Given the description of an element on the screen output the (x, y) to click on. 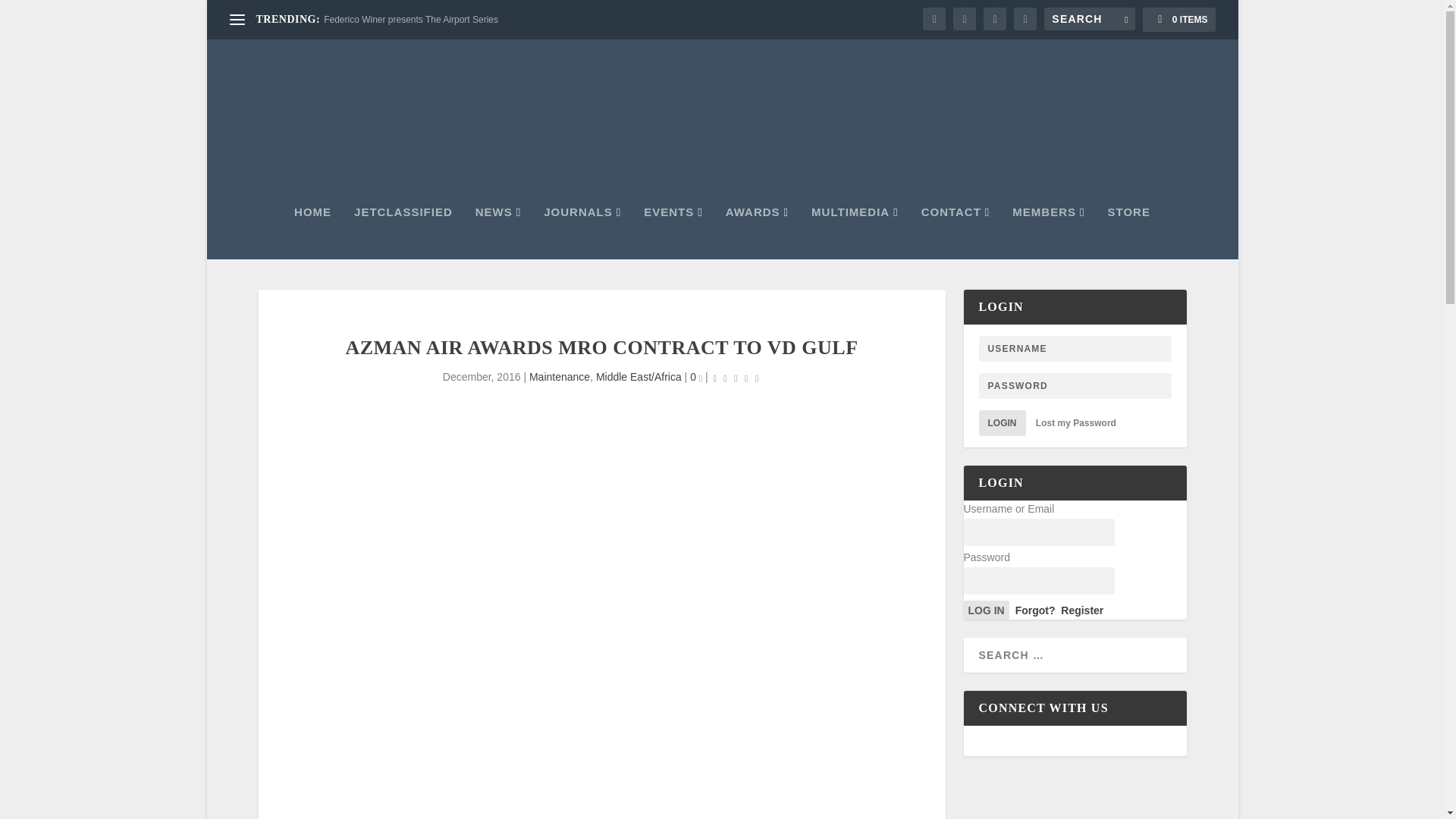
Rating: 0.00 (736, 377)
JETCLASSIFIED (402, 232)
JOURNALS (582, 232)
Federico Winer presents The Airport Series (410, 19)
log in (985, 609)
